Given the description of an element on the screen output the (x, y) to click on. 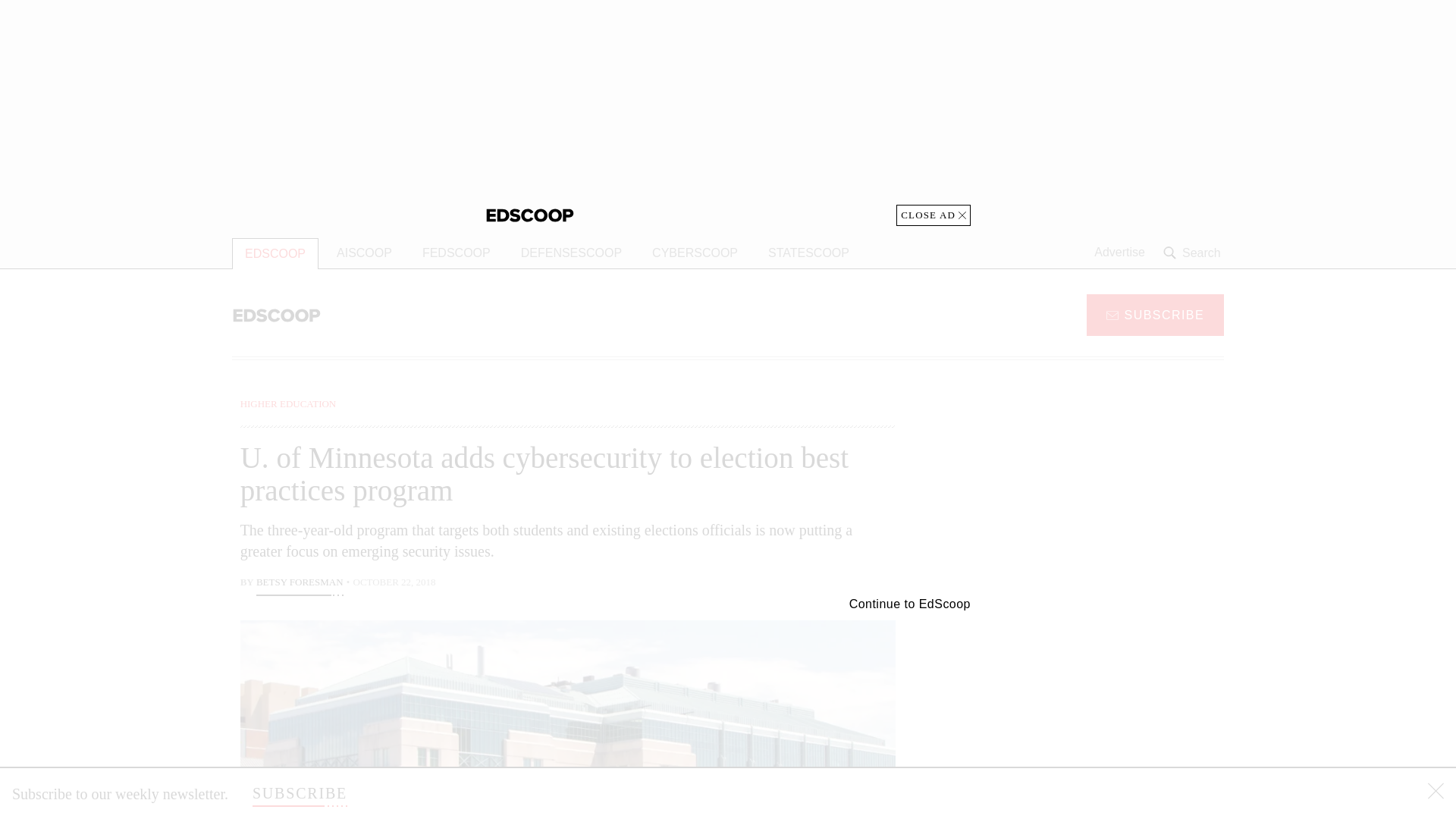
Advertise (1119, 252)
CYBERSCOOP (694, 253)
3rd party ad content (1101, 491)
EDSCOOP (274, 253)
Betsy Foresman (299, 583)
3rd party ad content (727, 112)
FEDSCOOP (456, 253)
STATESCOOP (808, 253)
AISCOOP (364, 253)
3rd party ad content (1101, 714)
SUBSCRIBE (1155, 314)
Search (1193, 252)
HIGHER EDUCATION (288, 403)
